Given the description of an element on the screen output the (x, y) to click on. 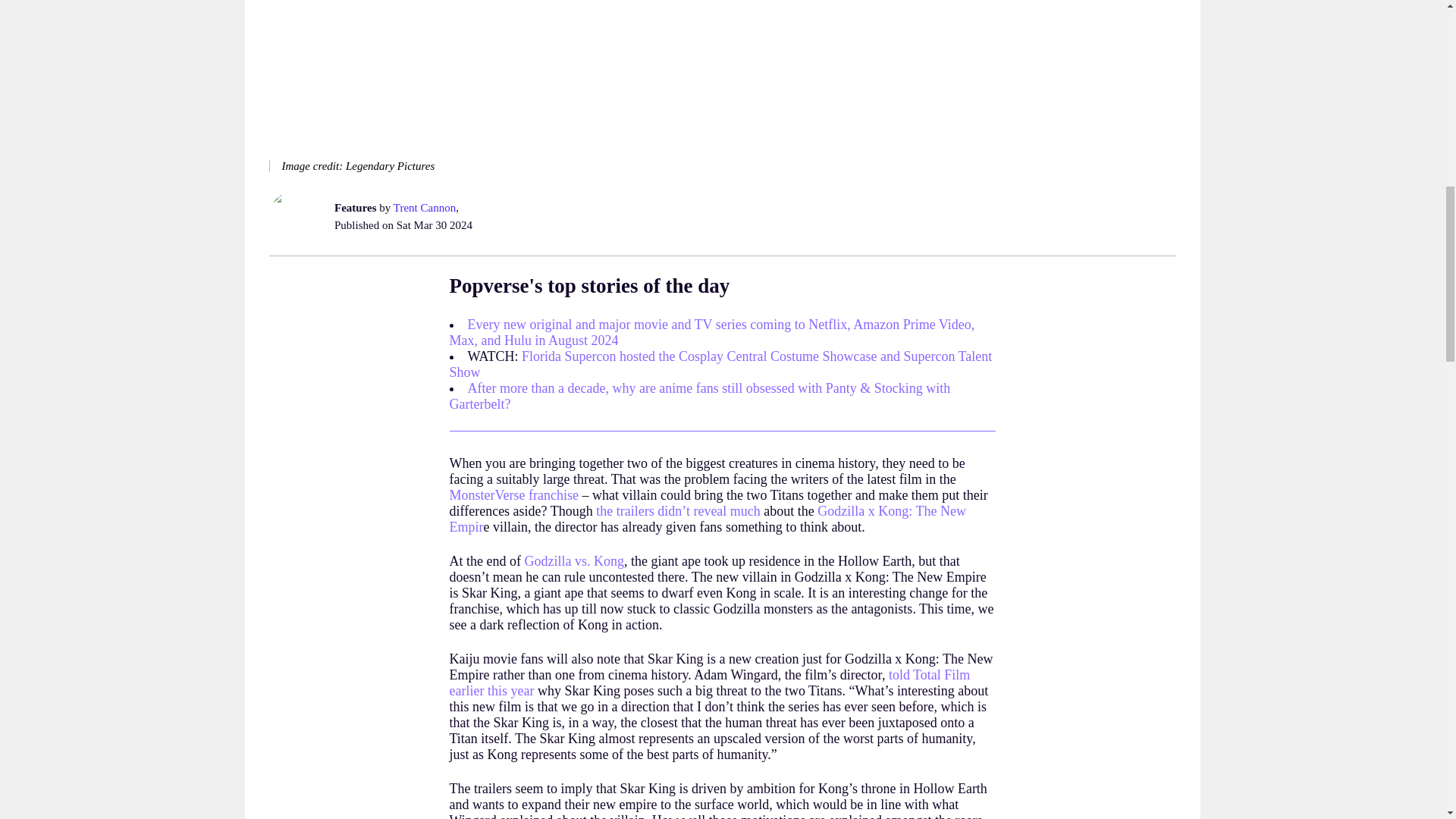
told Total Film earlier this year (708, 682)
Godzilla vs. Kong (573, 560)
Godzilla x Kong: The New Empir (706, 518)
Trent Cannon (423, 207)
MonsterVerse franchise (513, 494)
